Given the description of an element on the screen output the (x, y) to click on. 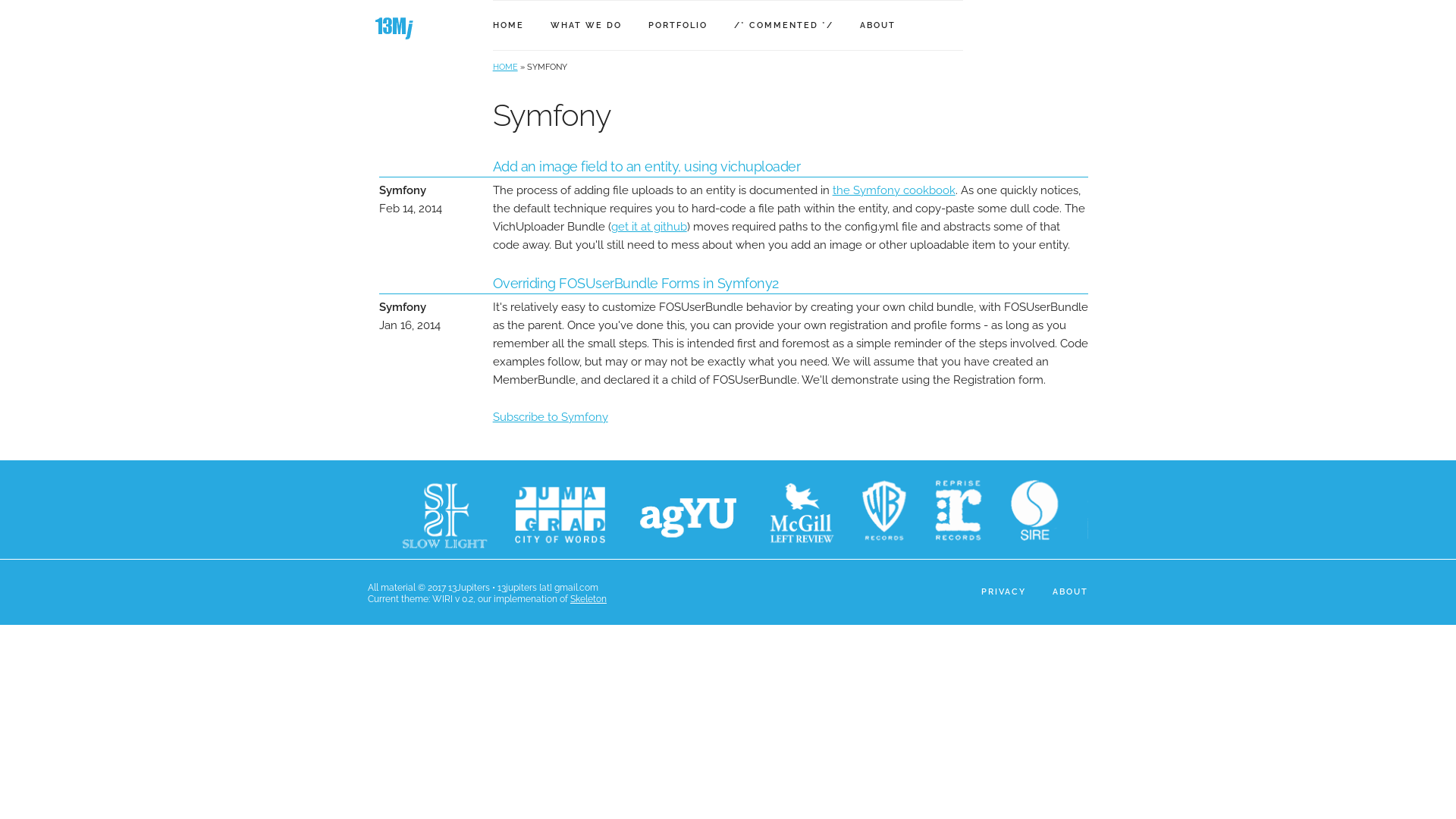
Skeleton Element type: text (588, 598)
Subscribe to Symfony Element type: text (550, 416)
HOME Element type: text (504, 67)
PRIVACY Element type: text (1003, 591)
ABOUT Element type: text (877, 25)
WHAT WE DO Element type: text (585, 25)
the Symfony cookbook Element type: text (893, 190)
Add an image field to an entity, using vichuploader Element type: text (646, 166)
get it at github Element type: text (649, 226)
Overriding FOSUserBundle Forms in Symfony2 Element type: text (635, 283)
HOME Element type: text (508, 25)
Skip to main content Element type: text (0, 0)
/* COMMENTED */ Element type: text (783, 25)
ABOUT Element type: text (1070, 591)
PORTFOLIO Element type: text (677, 25)
